Given the description of an element on the screen output the (x, y) to click on. 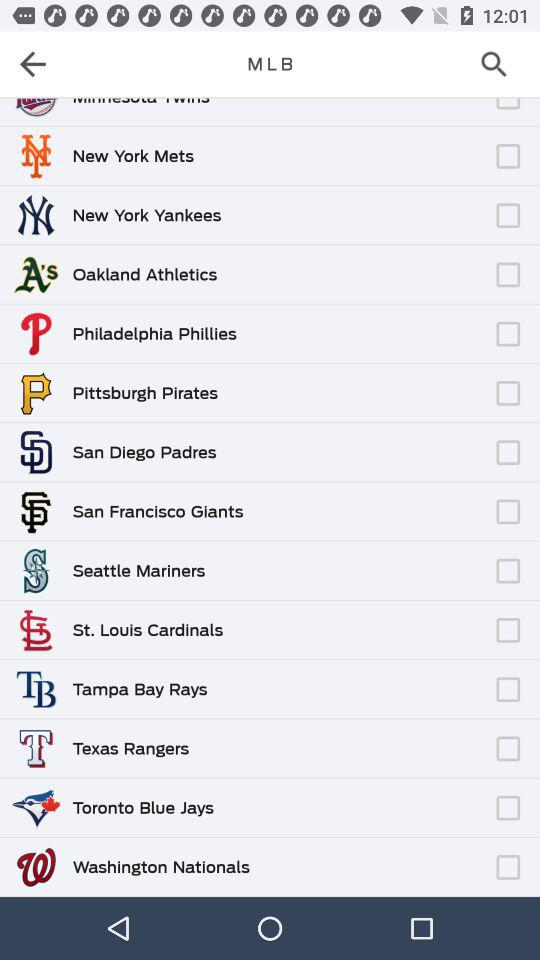
search (500, 64)
